Given the description of an element on the screen output the (x, y) to click on. 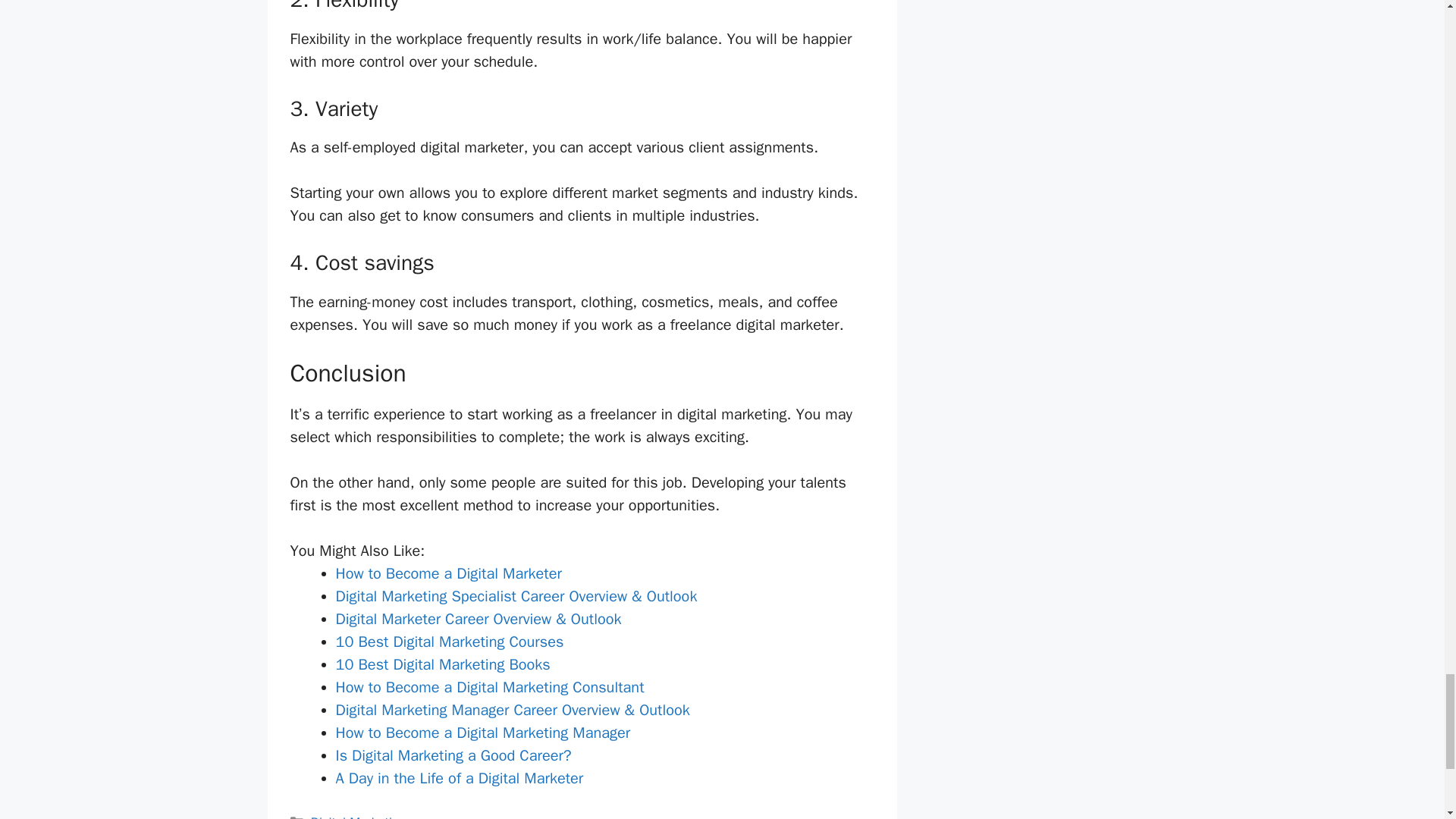
How to Become a Digital Marketing Consultant (488, 687)
How to Become a Digital Marketer (447, 573)
Is Digital Marketing a Good Career? (452, 755)
10 Best Digital Marketing Courses (448, 641)
A Day in the Life of a Digital Marketer (458, 778)
How to Become a Digital Marketing Manager (482, 732)
10 Best Digital Marketing Books (442, 664)
